Given the description of an element on the screen output the (x, y) to click on. 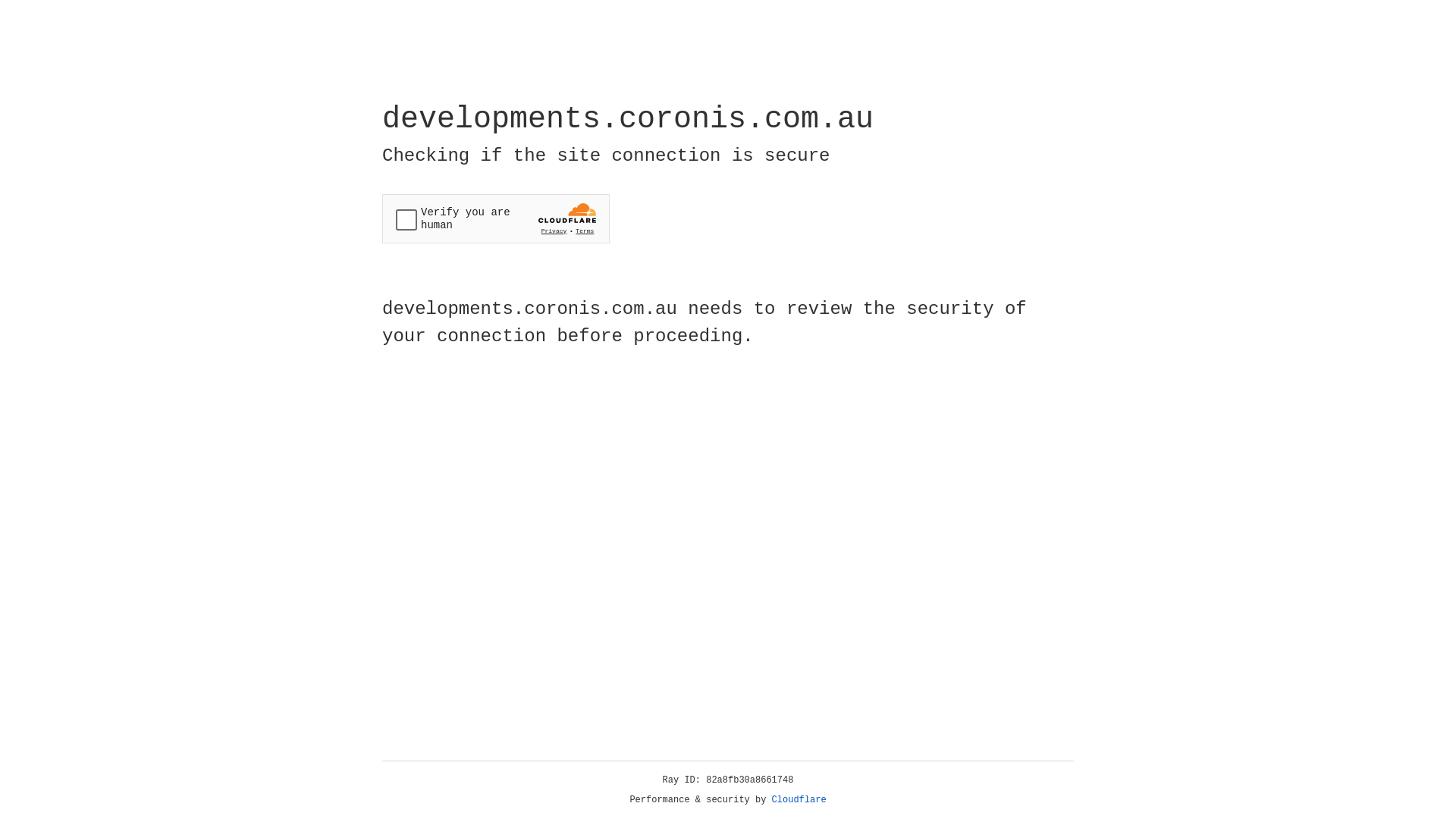
Cloudflare Element type: text (798, 799)
Widget containing a Cloudflare security challenge Element type: hover (495, 218)
